Given the description of an element on the screen output the (x, y) to click on. 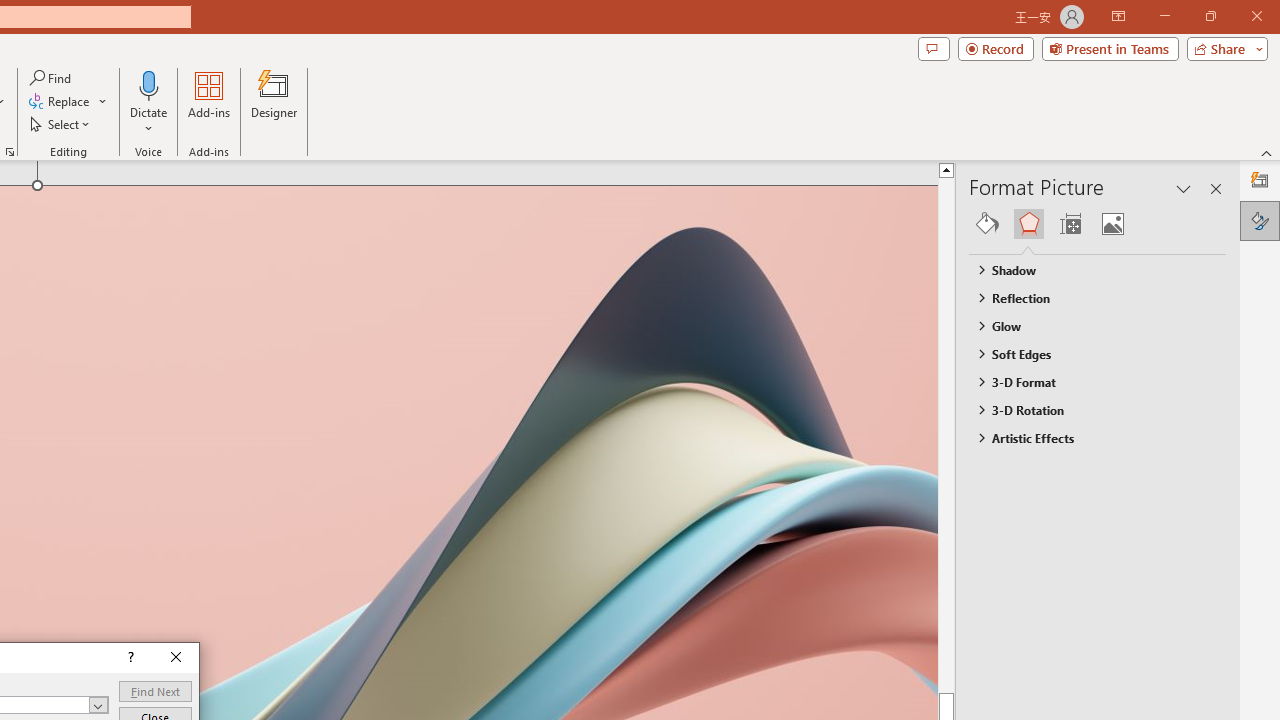
Picture (1112, 223)
Format Picture (1260, 220)
Effects (1028, 223)
Glow (1088, 325)
Find Next (155, 690)
Soft Edges (1088, 353)
Fill & Line (987, 223)
